Given the description of an element on the screen output the (x, y) to click on. 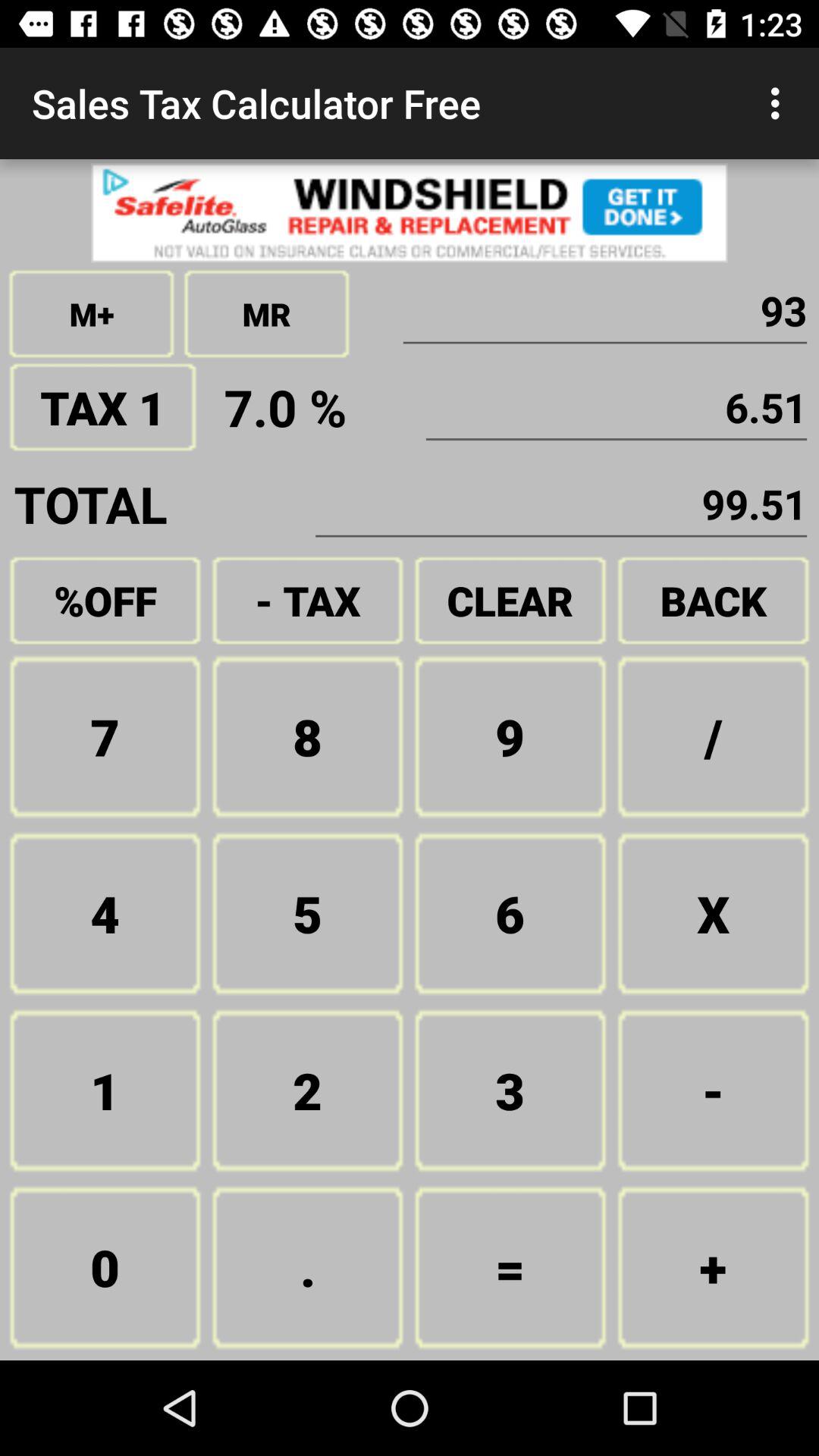
tax calculator (409, 212)
